Given the description of an element on the screen output the (x, y) to click on. 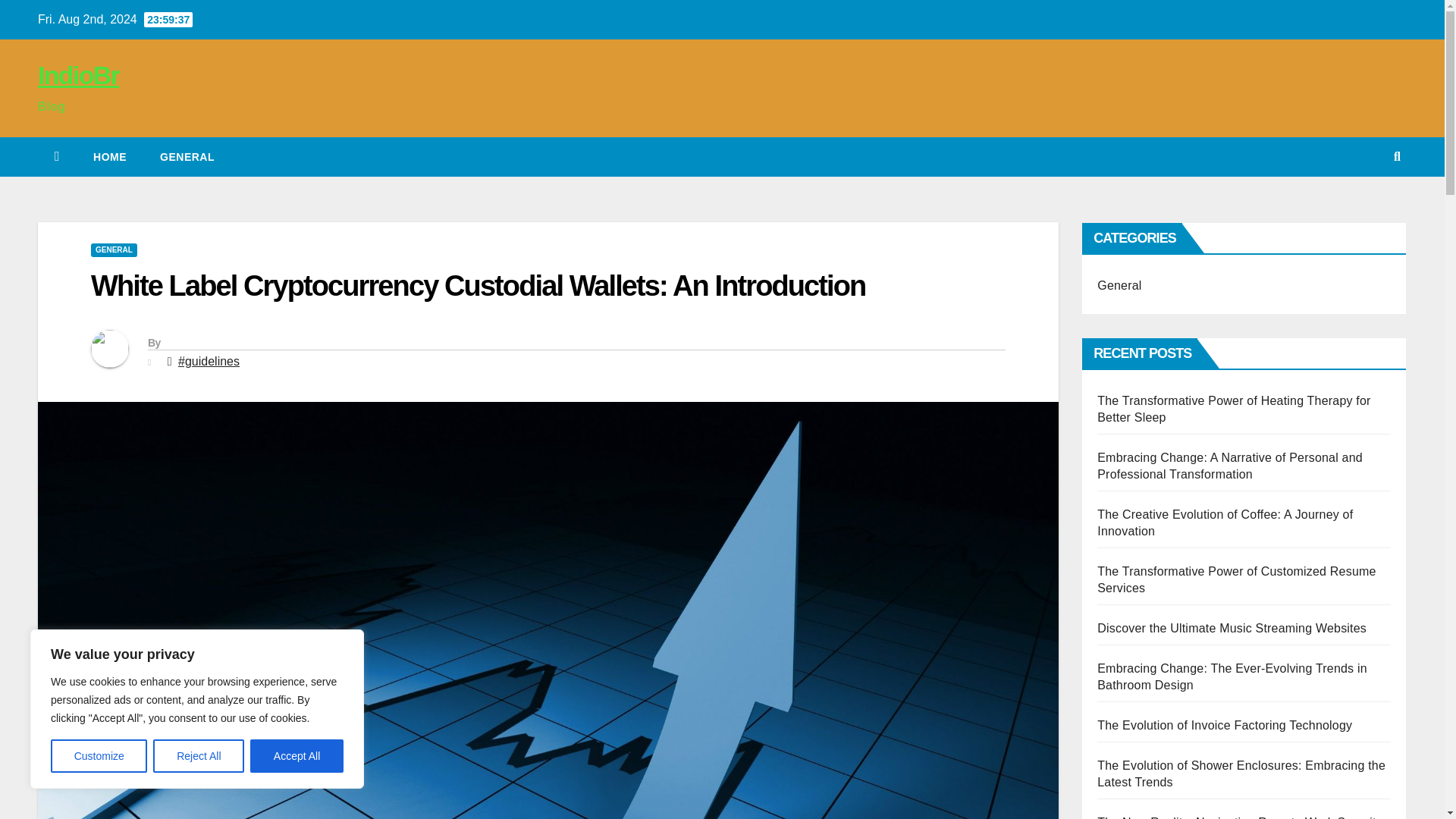
GENERAL (186, 156)
Home (109, 156)
Accept All (296, 756)
IndioBr (78, 74)
Customize (98, 756)
GENERAL (113, 250)
HOME (109, 156)
Reject All (198, 756)
